Given the description of an element on the screen output the (x, y) to click on. 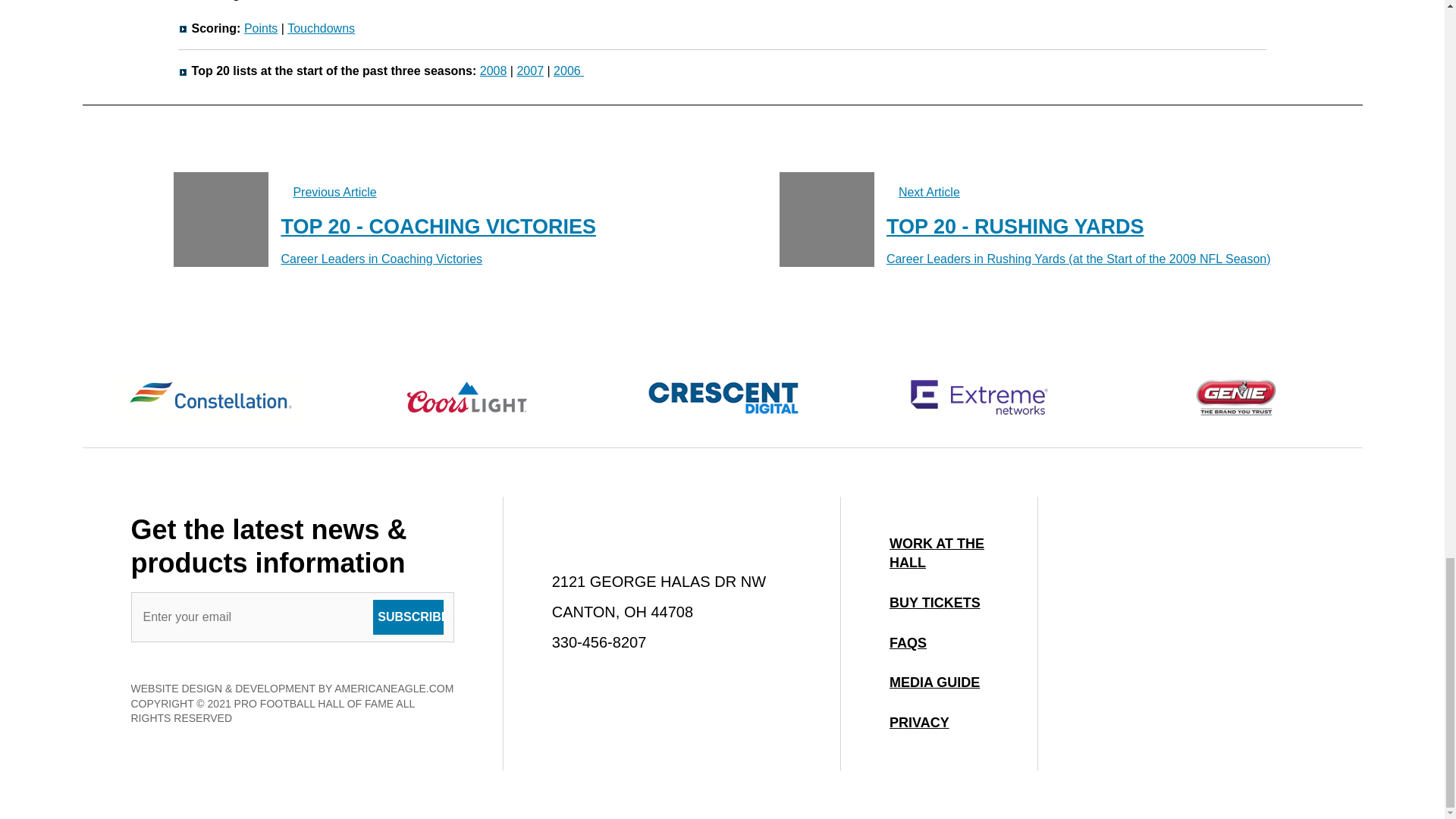
3rd party ad content (1199, 633)
